Given the description of an element on the screen output the (x, y) to click on. 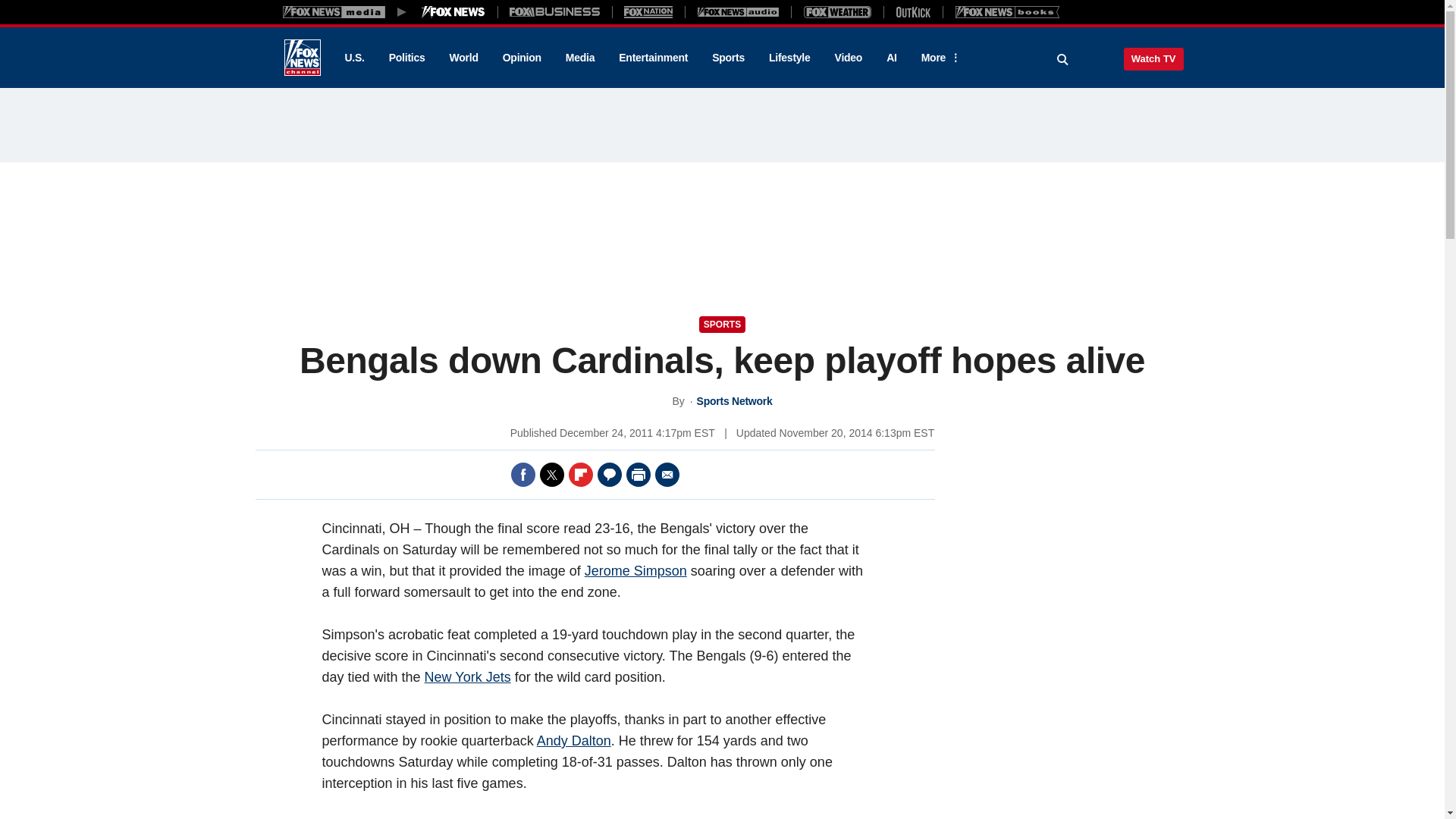
Outkick (912, 11)
More (938, 57)
Watch TV (1153, 58)
Fox Business (554, 11)
AI (891, 57)
Sports (728, 57)
U.S. (353, 57)
Video (848, 57)
Books (1007, 11)
Fox Weather (836, 11)
